Given the description of an element on the screen output the (x, y) to click on. 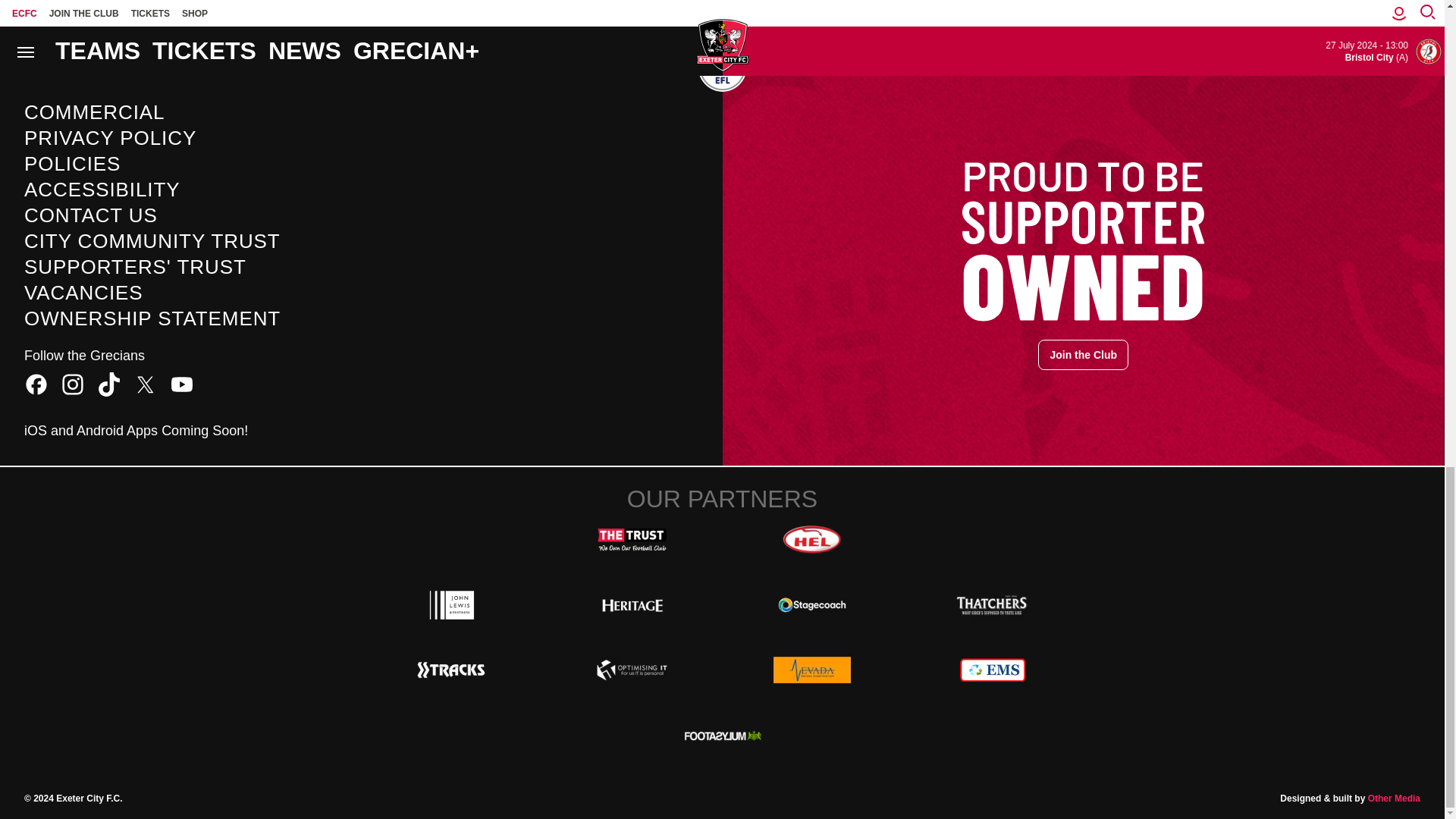
Optimising IT (632, 669)
Stagecoach (812, 604)
TikTok icon (108, 384)
Nevada Construction  (812, 669)
X Formally know as Twitter (145, 384)
John Lewis (451, 604)
Instagram (72, 384)
Thatchers (991, 604)
HEL (812, 539)
Facebook (36, 384)
Tracks Suzuki (451, 669)
Footasylum (721, 734)
The Trust (632, 539)
EMS (991, 669)
Heritage Developments (632, 604)
